Given the description of an element on the screen output the (x, y) to click on. 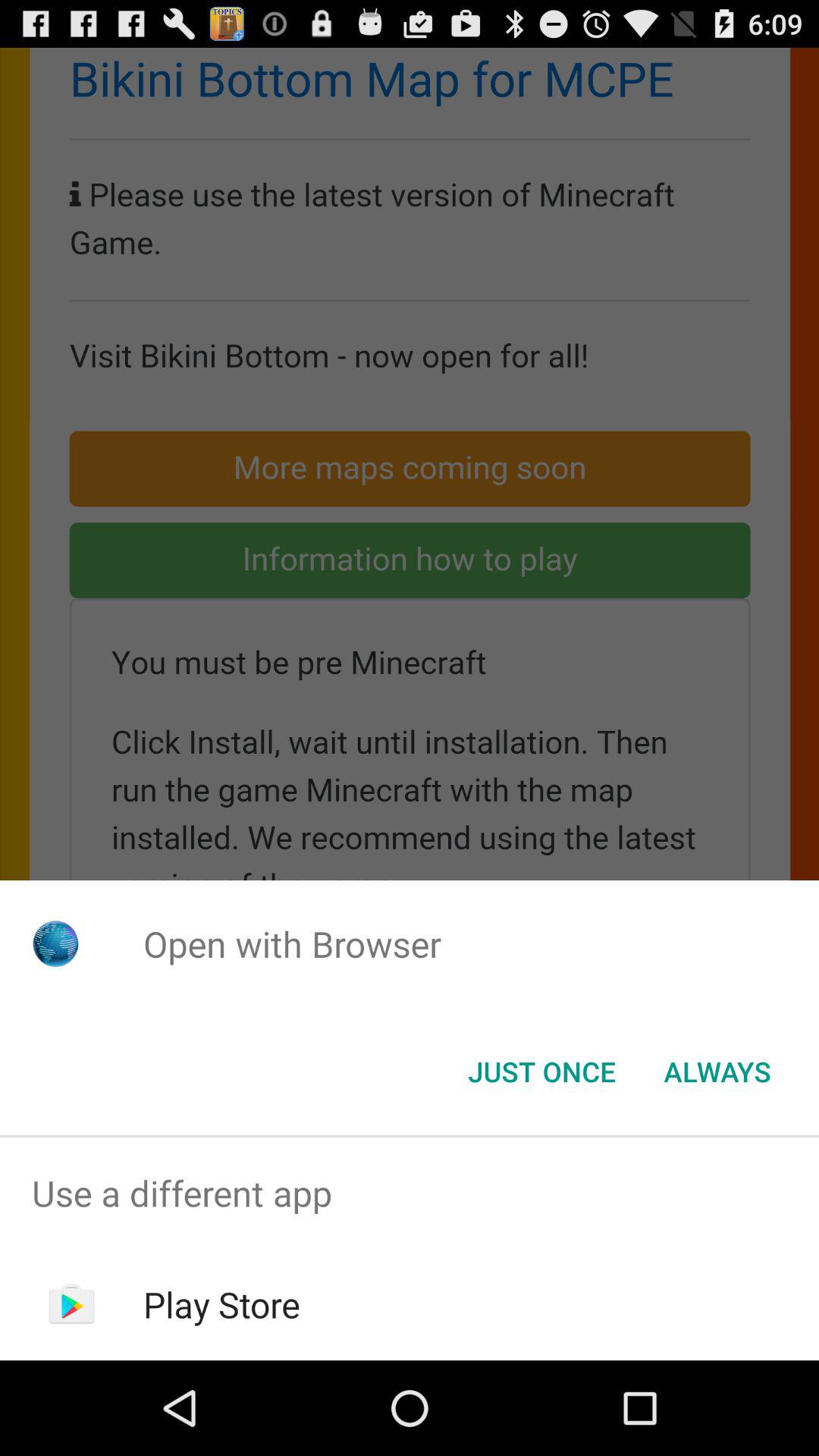
launch icon to the right of just once item (717, 1071)
